Given the description of an element on the screen output the (x, y) to click on. 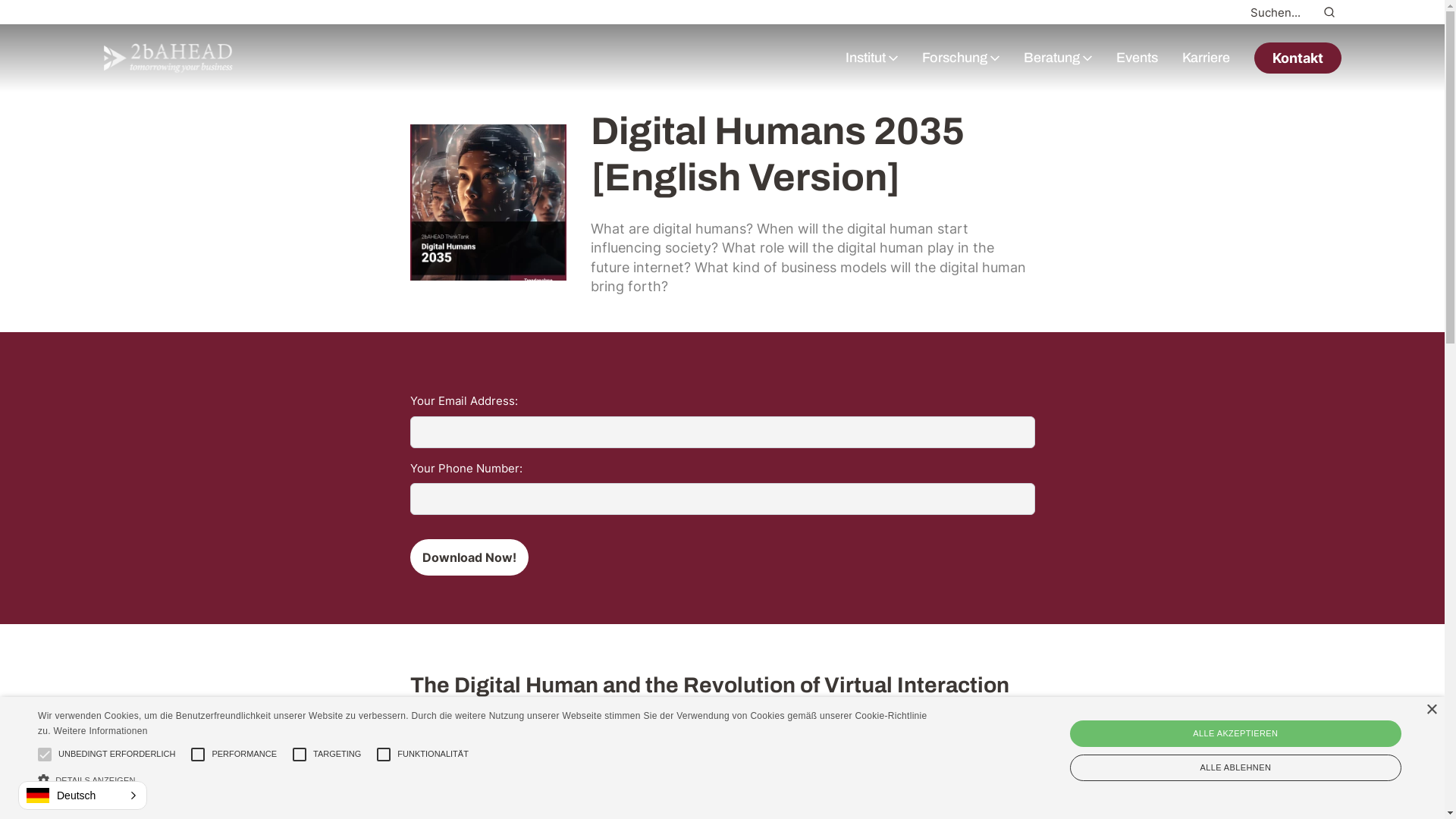
Institut Element type: text (864, 58)
Beratung Element type: text (1051, 58)
POWERED BY COOKIESCRIPT Element type: text (87, 803)
Kontakt Element type: text (1297, 57)
Weitere Informationen Element type: text (100, 730)
Karriere Element type: text (1205, 58)
Forschung Element type: text (954, 58)
Download Now! Element type: text (468, 557)
Events Element type: text (1136, 58)
